Given the description of an element on the screen output the (x, y) to click on. 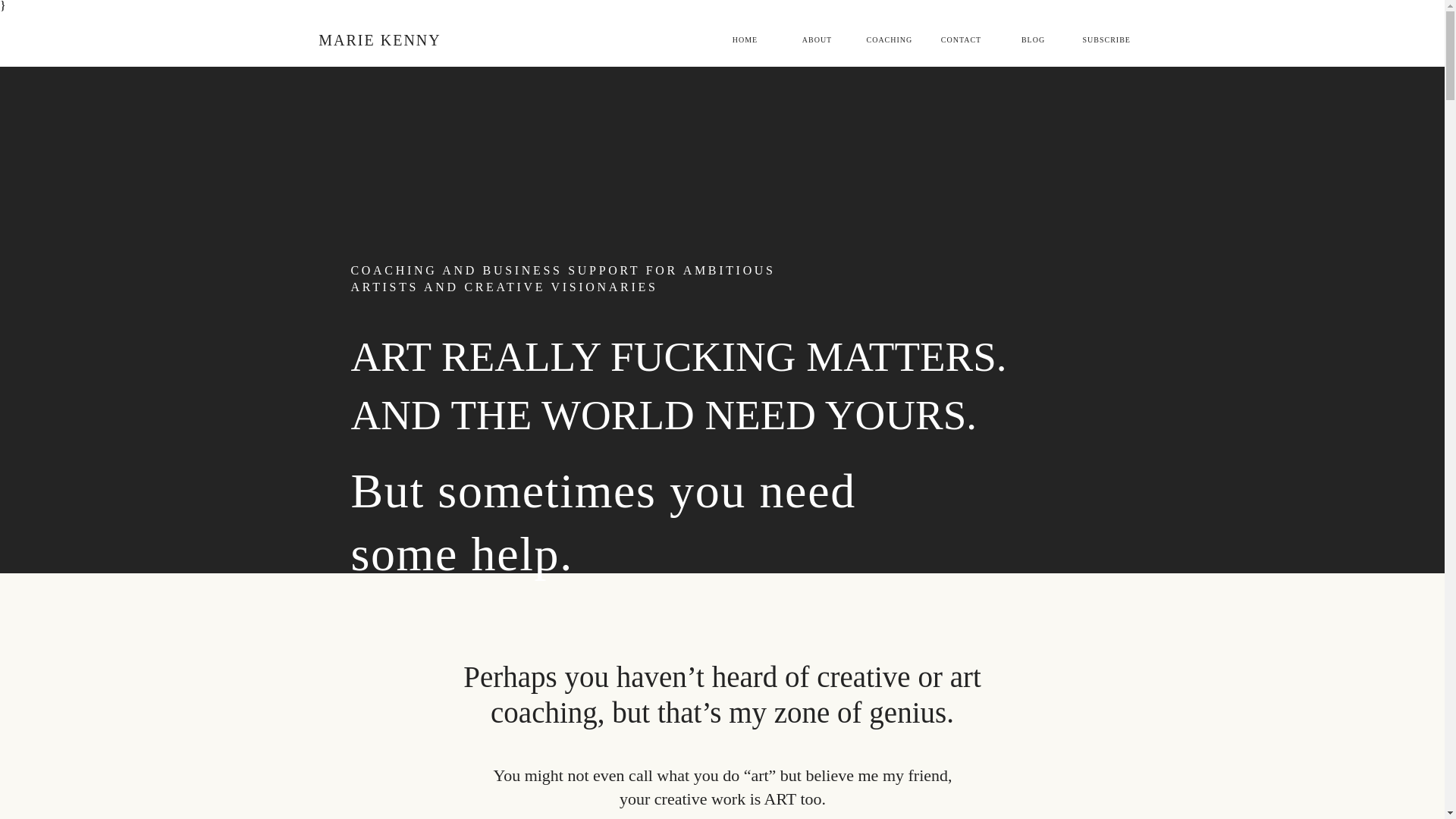
HOME (744, 39)
CONTACT (961, 39)
COACHING (888, 39)
MARIE KENNY (379, 39)
ABOUT (817, 39)
BLOG (1032, 39)
SUBSCRIBE (1105, 39)
